Given the description of an element on the screen output the (x, y) to click on. 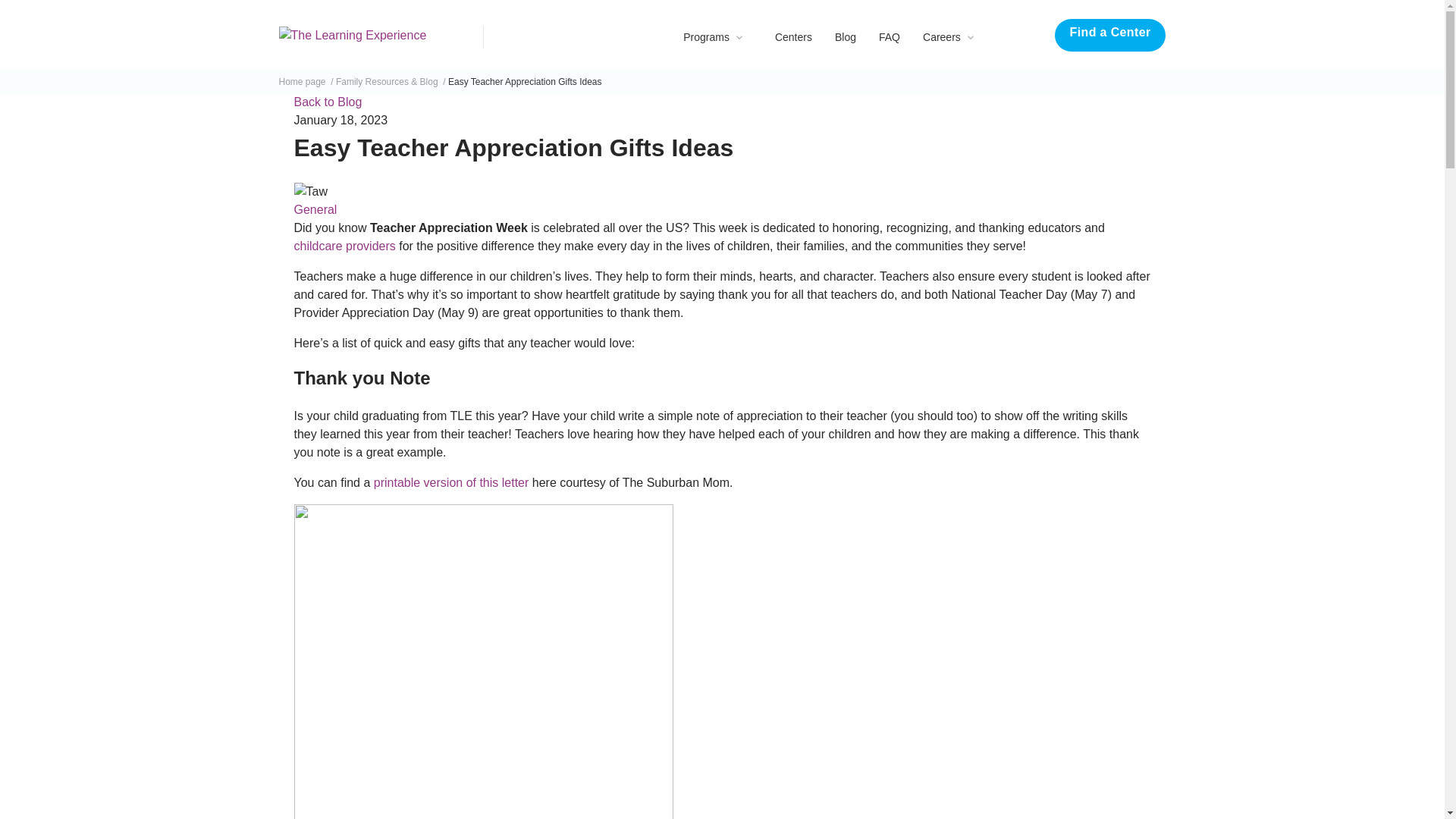
Careers (941, 37)
FAQ (889, 37)
Programs (705, 37)
childcare providers (345, 245)
Home page (306, 81)
Find a Center (1110, 34)
Submenu for "Careers" (972, 36)
General (315, 209)
Submenu for "Programs" (740, 36)
Centers (793, 37)
